Given the description of an element on the screen output the (x, y) to click on. 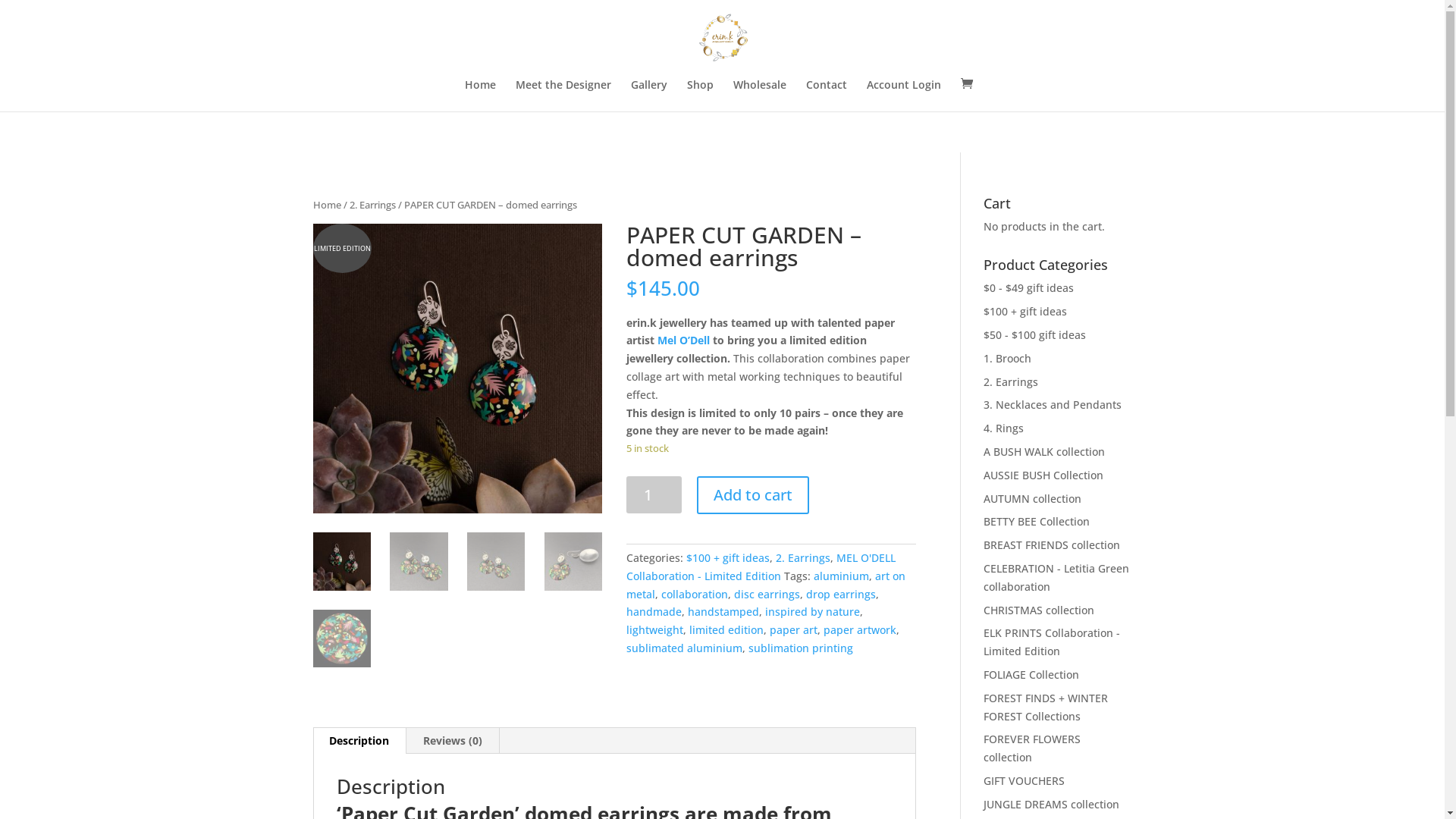
2. Earrings Element type: text (802, 557)
$0 - $49 gift ideas Element type: text (1028, 287)
paper art Element type: text (793, 629)
4. Rings Element type: text (1003, 427)
+ Element type: text (1425, 20)
$100 + gift ideas Element type: text (727, 557)
ELK PRINTS Collaboration - Limited Edition Element type: text (1051, 641)
2. Earrings Element type: text (371, 204)
FOREVER FLOWERS collection Element type: text (1031, 747)
drop earrings Element type: text (840, 593)
FOLIAGE Collection Element type: text (1031, 674)
aluminium Element type: text (841, 575)
Reviews (0) Element type: text (452, 740)
CHRISTMAS collection Element type: text (1038, 609)
Description Element type: text (358, 740)
Add to cart Element type: text (752, 495)
Account Login Element type: text (903, 95)
AUSSIE BUSH Collection Element type: text (1043, 474)
$50 - $100 gift ideas Element type: text (1034, 334)
Contact Element type: text (825, 95)
Meet the Designer Element type: text (563, 95)
MEL O'DELL Collaboration - Limited Edition Element type: text (760, 566)
Wholesale Element type: text (758, 95)
BETTY BEE Collection Element type: text (1036, 521)
paper-art-jewellery-collaboration Element type: hover (457, 368)
CELEBRATION - Letitia Green collaboration Element type: text (1056, 577)
2. Earrings Element type: text (1010, 381)
lightweight Element type: text (654, 629)
handmade Element type: text (653, 611)
Home Element type: text (479, 95)
sublimated aluminium Element type: text (684, 647)
FOREST FINDS + WINTER FOREST Collections Element type: text (1045, 706)
BREAST FRIENDS collection Element type: text (1051, 544)
limited edition Element type: text (726, 629)
Gallery Element type: text (648, 95)
SHOP NOW Element type: text (830, 20)
paper artwork Element type: text (859, 629)
inspired by nature Element type: text (812, 611)
3. Necklaces and Pendants Element type: text (1052, 404)
GIFT VOUCHERS Element type: text (1023, 780)
1. Brooch Element type: text (1007, 358)
sublimation printing Element type: text (800, 647)
AUTUMN collection Element type: text (1032, 498)
Shop Element type: text (700, 95)
handstamped Element type: text (723, 611)
disc earrings Element type: text (767, 593)
art on metal Element type: text (765, 584)
collaboration Element type: text (694, 593)
JUNGLE DREAMS collection Element type: text (1051, 804)
$100 + gift ideas Element type: text (1024, 311)
A BUSH WALK collection Element type: text (1043, 451)
Home Element type: text (326, 204)
